Given the description of an element on the screen output the (x, y) to click on. 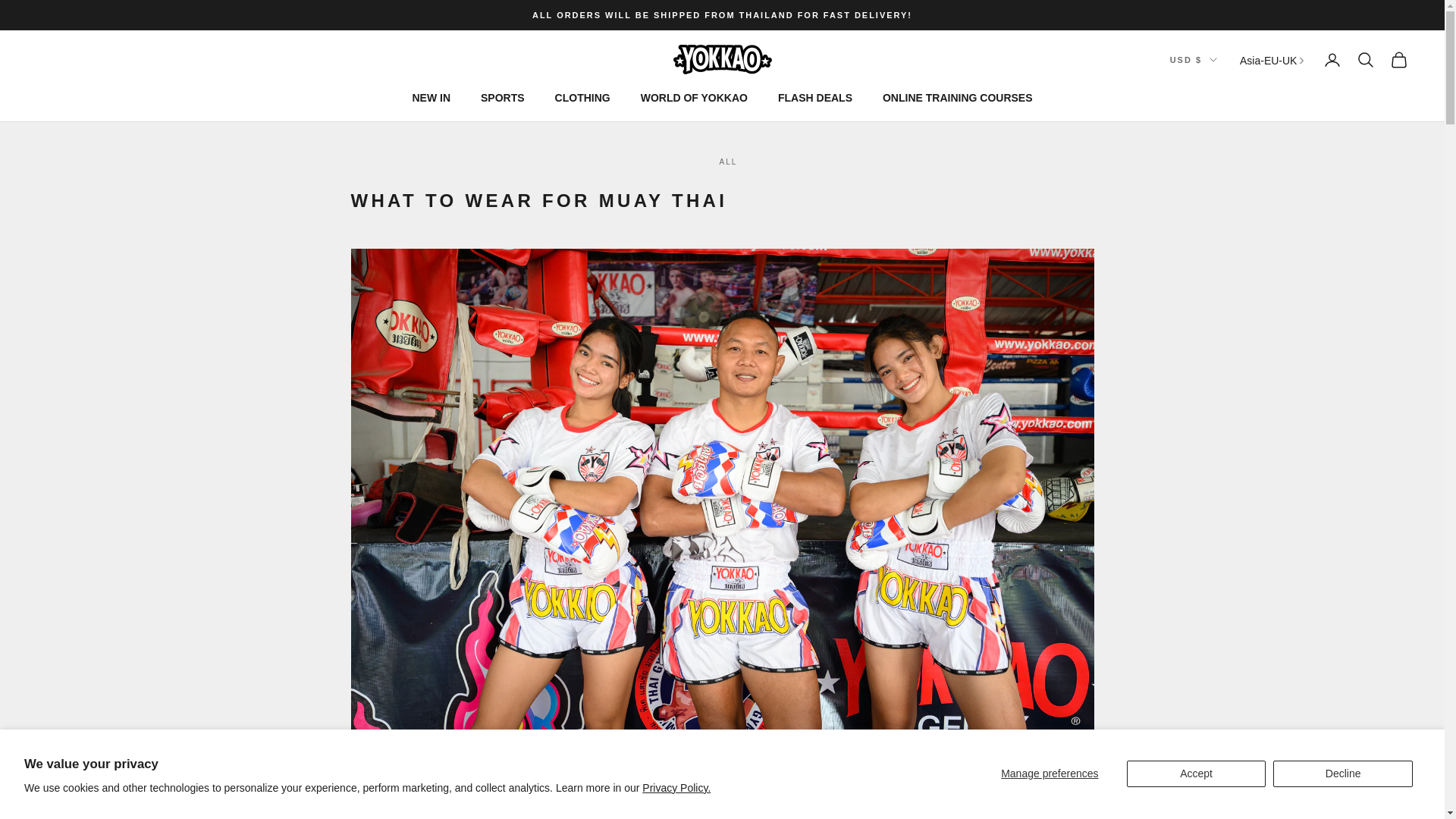
Accept (1196, 773)
Decline (1342, 773)
Privacy Policy. (676, 787)
NEW IN (430, 98)
Manage preferences (1049, 773)
YOKKAO TH (721, 59)
